Given the description of an element on the screen output the (x, y) to click on. 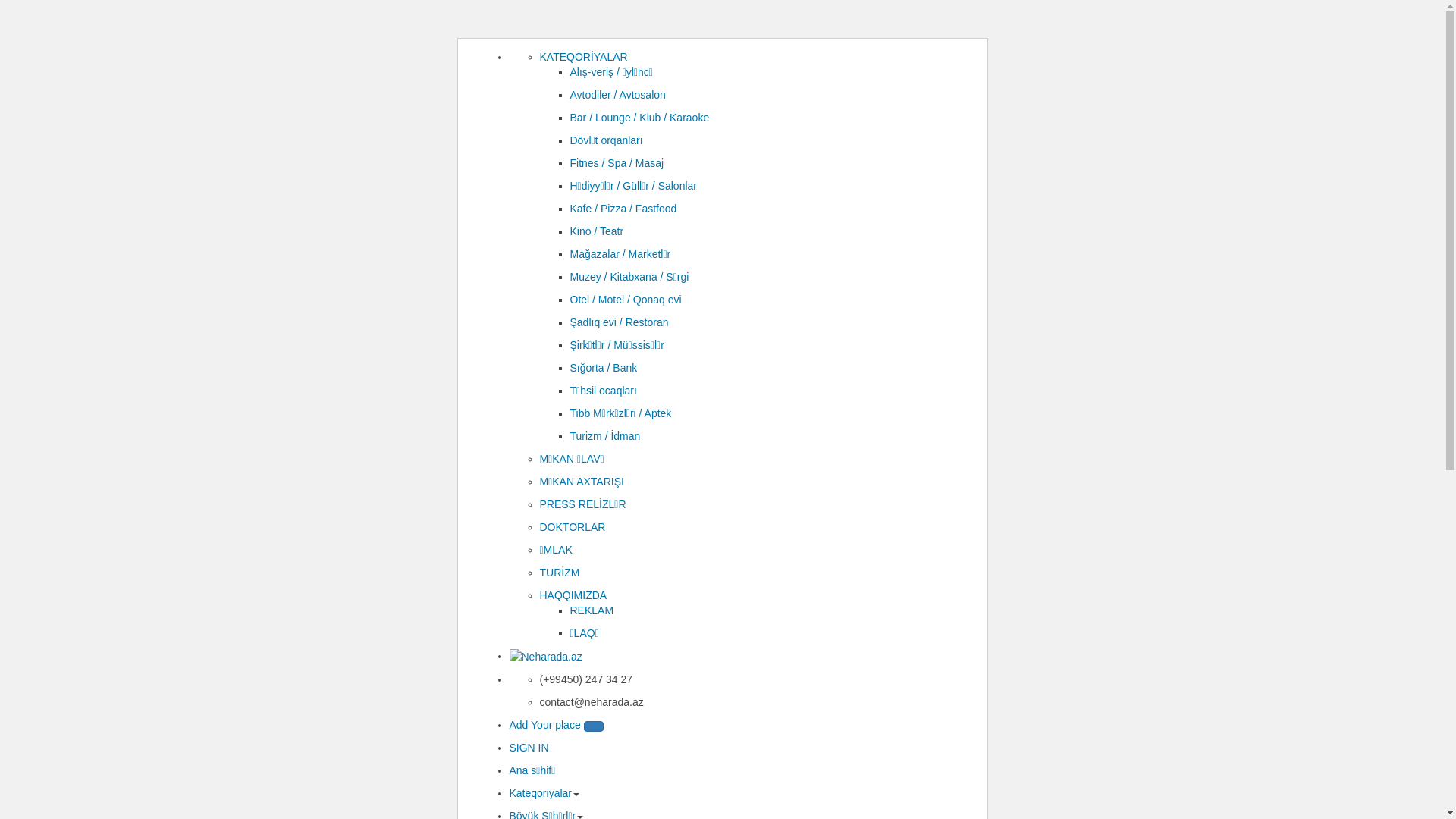
Kino / Teatr Element type: text (597, 231)
DOKTORLAR Element type: text (572, 526)
HAQQIMIZDA Element type: text (573, 595)
SIGN IN Element type: text (529, 747)
Avtodiler / Avtosalon Element type: text (617, 94)
REKLAM Element type: text (592, 610)
Add Your place Element type: text (556, 724)
Kateqoriyalar Element type: text (540, 793)
Otel / Motel / Qonaq evi Element type: text (625, 299)
Kafe / Pizza / Fastfood Element type: text (623, 208)
Fitnes / Spa / Masaj Element type: text (617, 162)
Bar / Lounge / Klub / Karaoke Element type: text (639, 117)
